Given the description of an element on the screen output the (x, y) to click on. 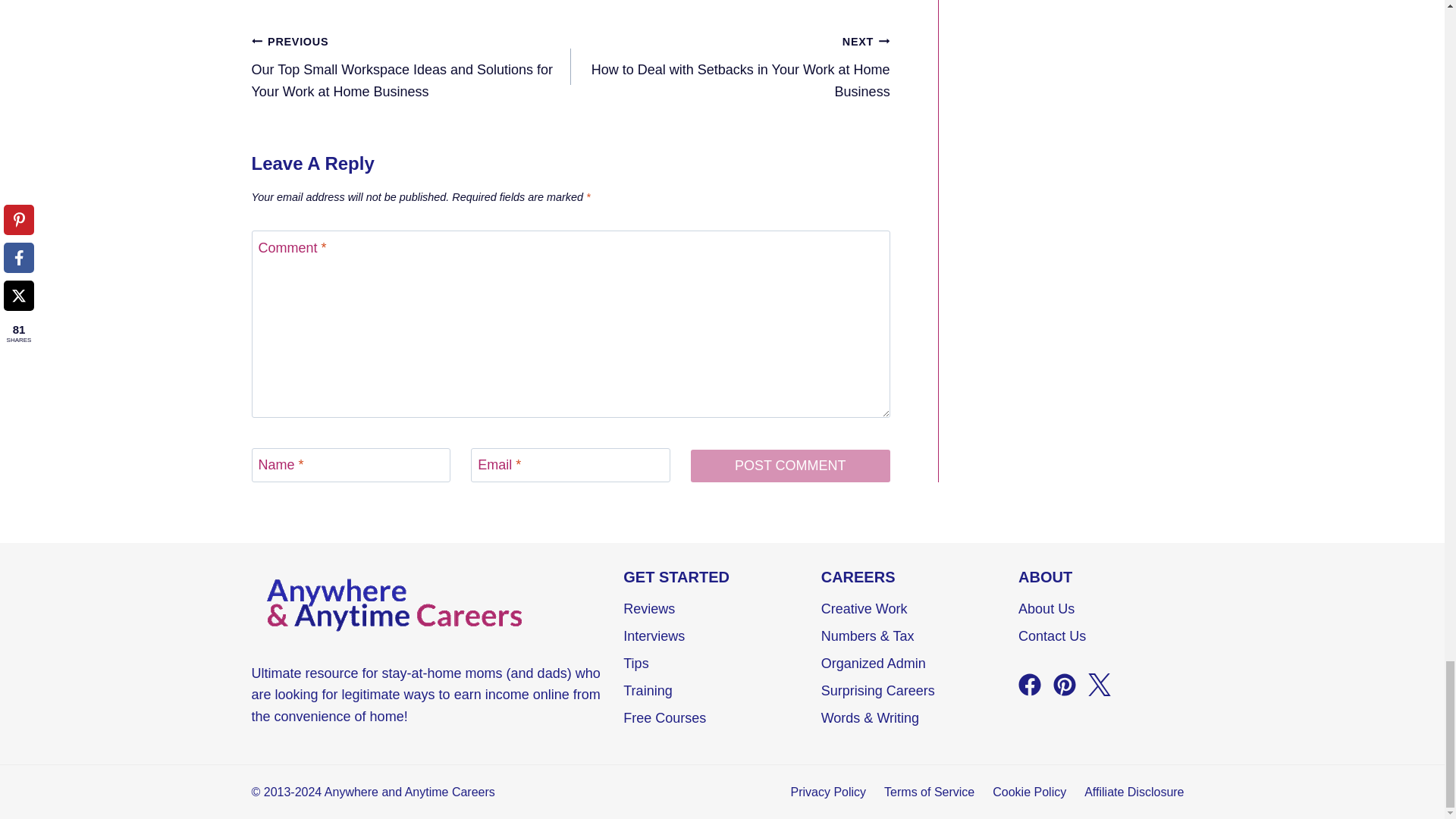
Post Comment (729, 66)
Post Comment (789, 464)
